Given the description of an element on the screen output the (x, y) to click on. 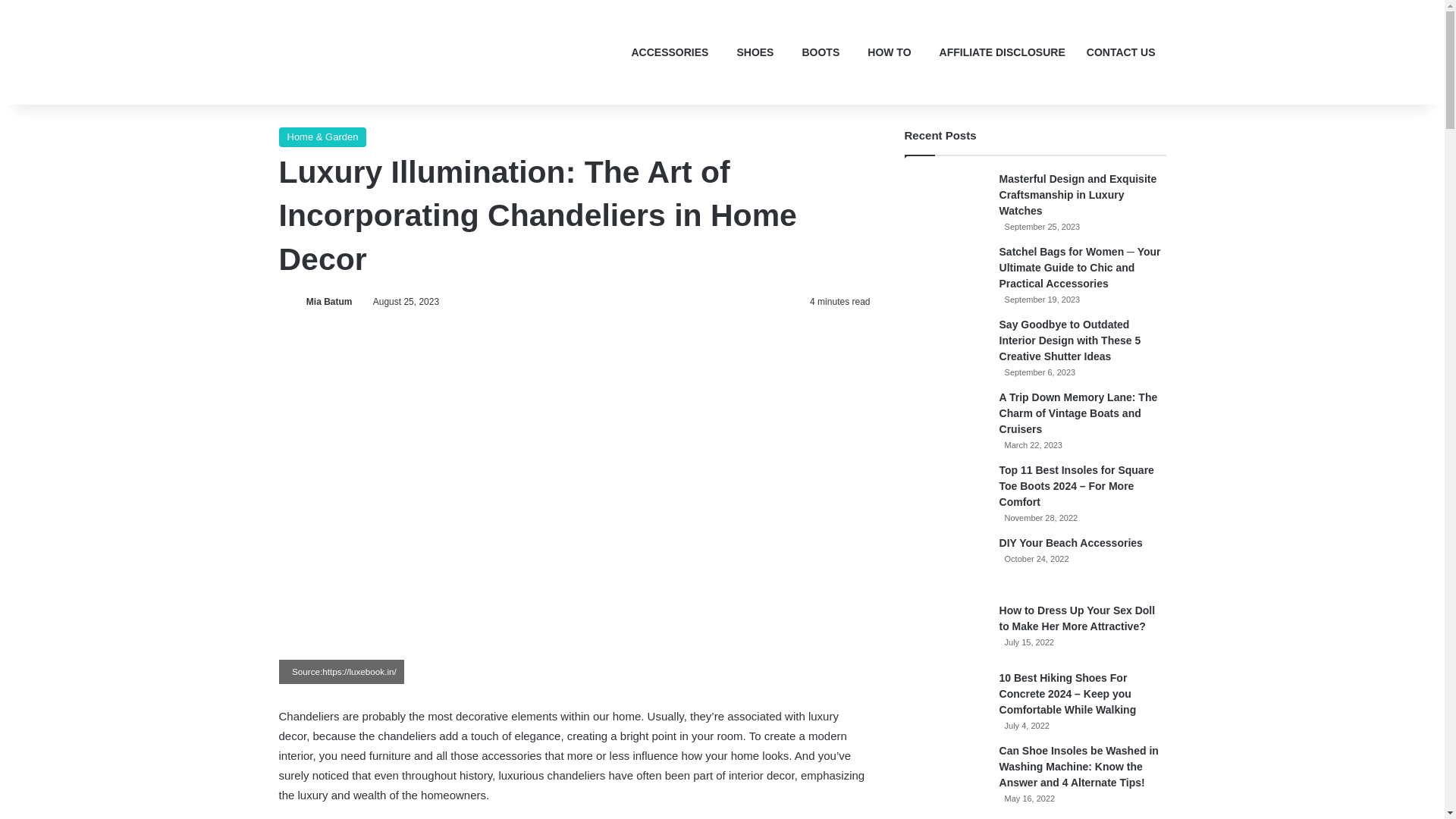
Mia Batum (328, 301)
ACCESSORIES (665, 52)
AFFILIATE DISCLOSURE (998, 52)
Mia Batum (328, 301)
